Given the description of an element on the screen output the (x, y) to click on. 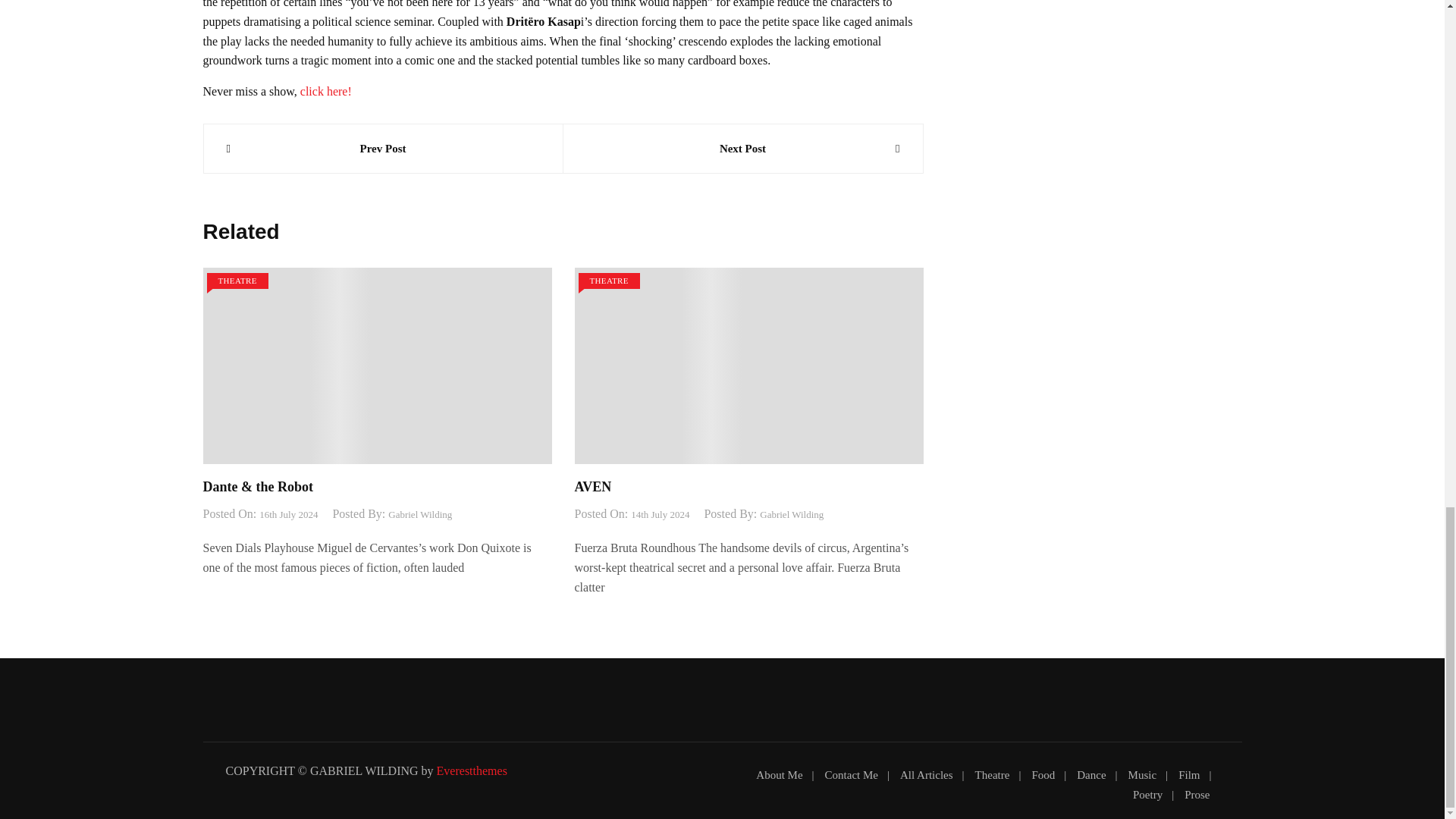
Next Post (742, 148)
THEATRE (608, 280)
14th July 2024 (659, 514)
16th July 2024 (288, 514)
Gabriel Wilding (792, 514)
Gabriel Wilding (419, 514)
THEATRE (236, 280)
Prev Post (381, 148)
AVEN (593, 486)
click here! (325, 91)
